Given the description of an element on the screen output the (x, y) to click on. 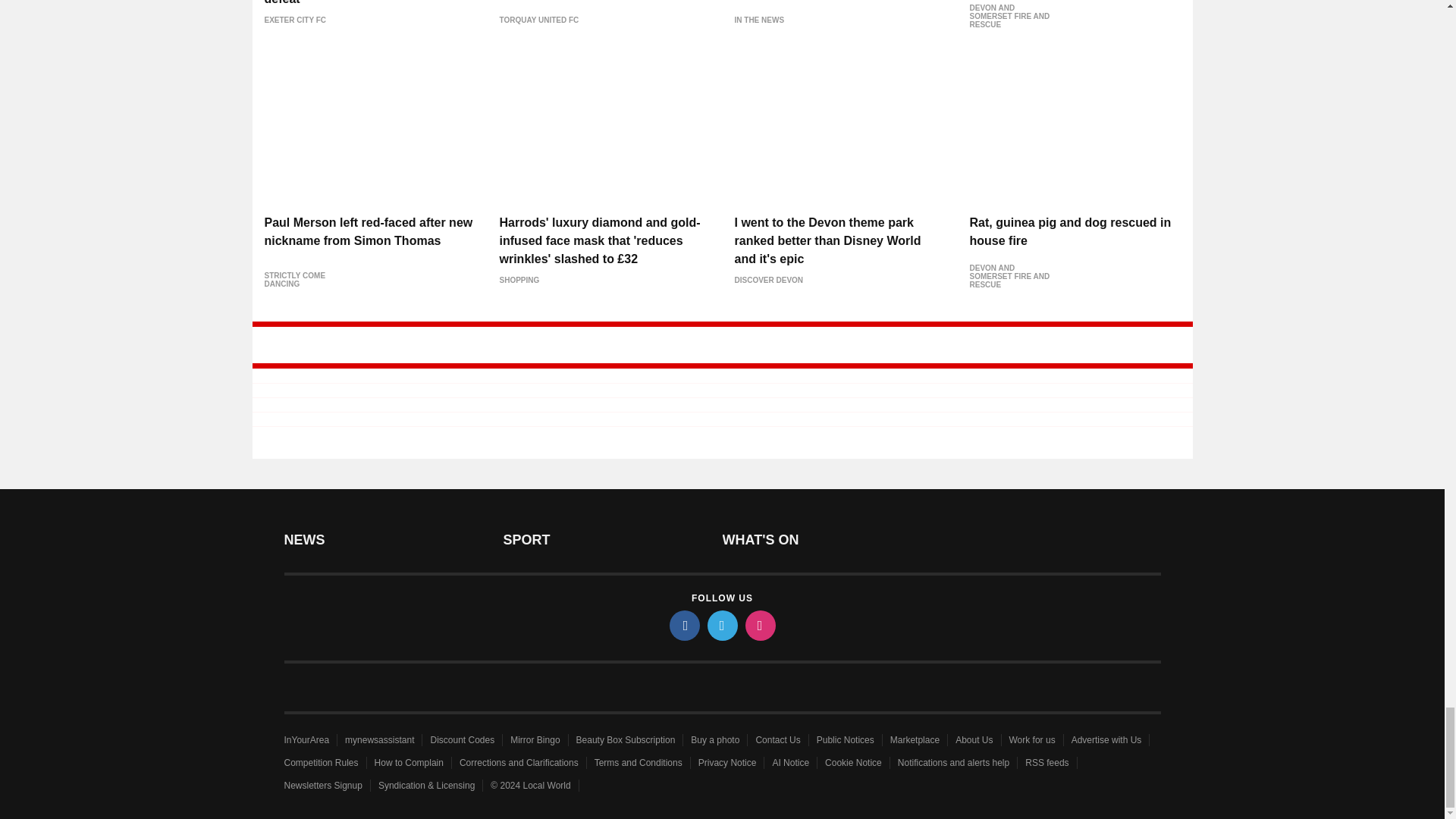
instagram (759, 625)
facebook (683, 625)
twitter (721, 625)
